Given the description of an element on the screen output the (x, y) to click on. 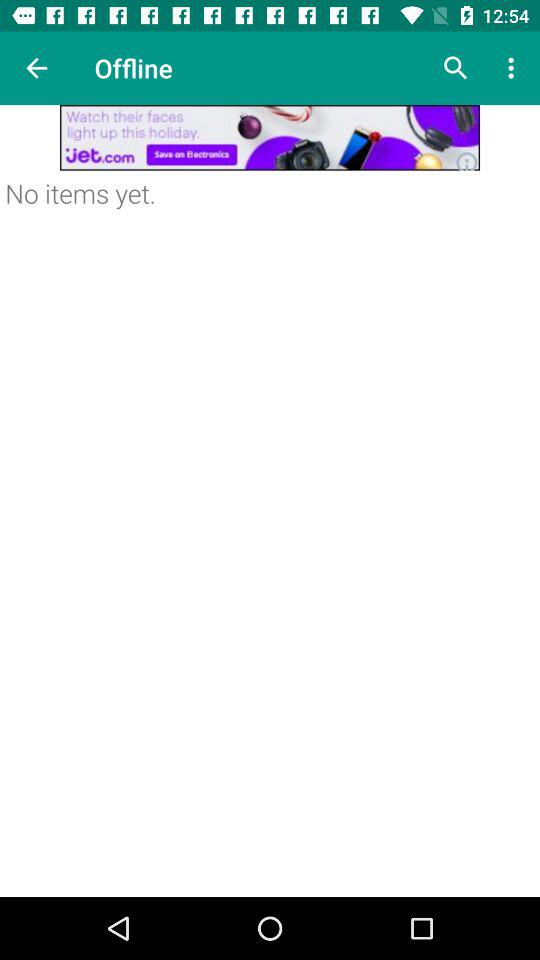
search (455, 67)
